Given the description of an element on the screen output the (x, y) to click on. 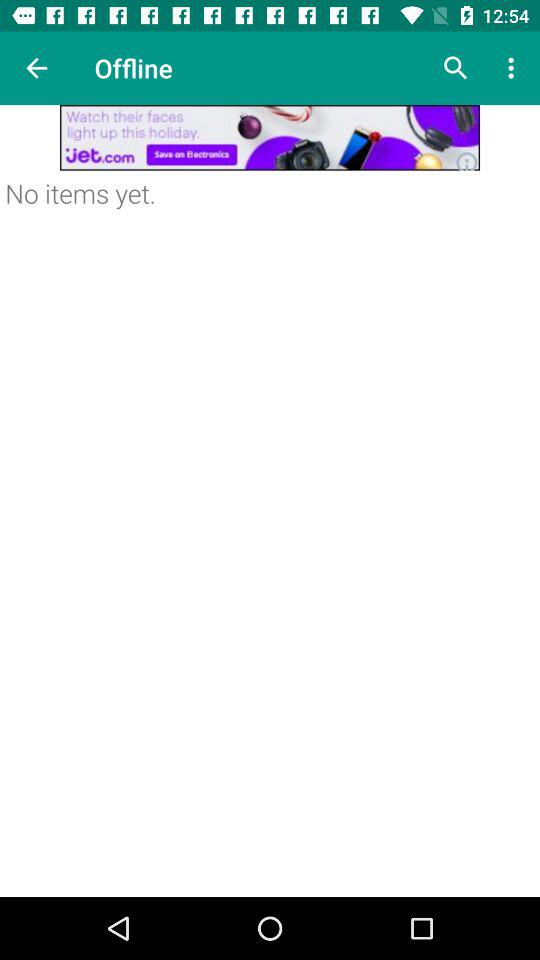
search (455, 67)
